Given the description of an element on the screen output the (x, y) to click on. 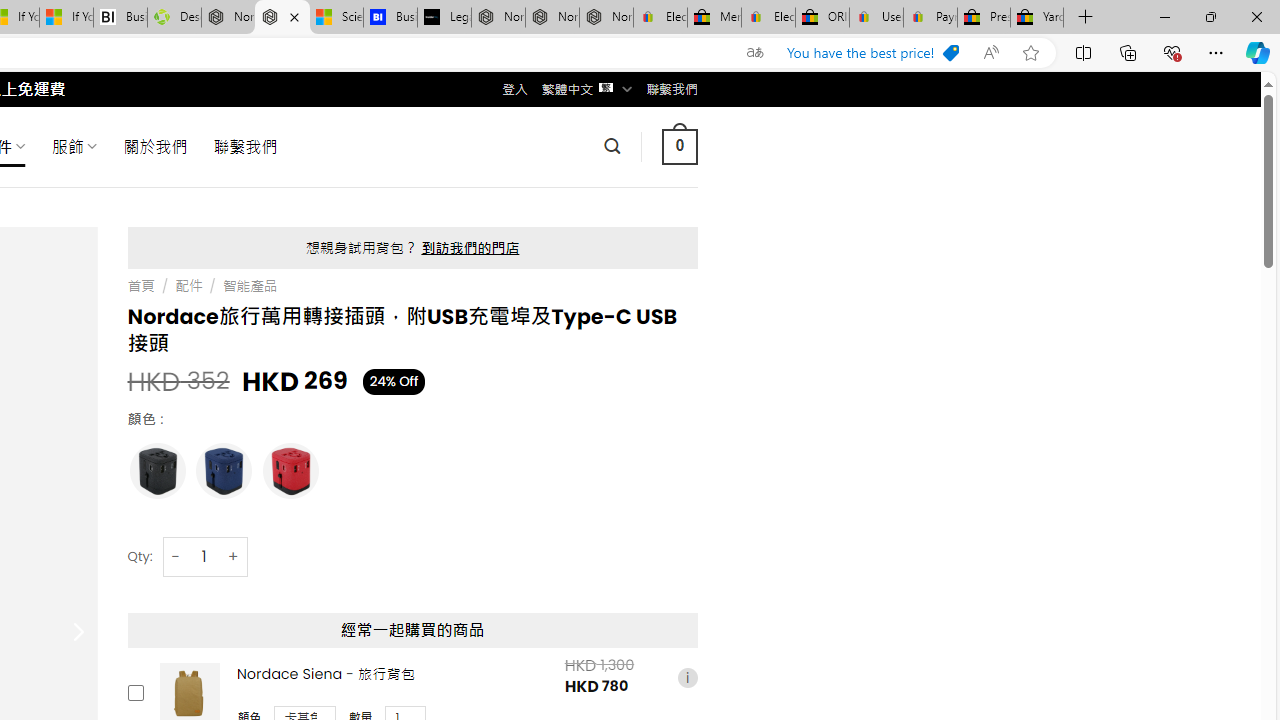
- (175, 555)
Yard, Garden & Outdoor Living (1037, 17)
 0  (679, 146)
Nordace - Summer Adventures 2024 (228, 17)
i (687, 677)
